Given the description of an element on the screen output the (x, y) to click on. 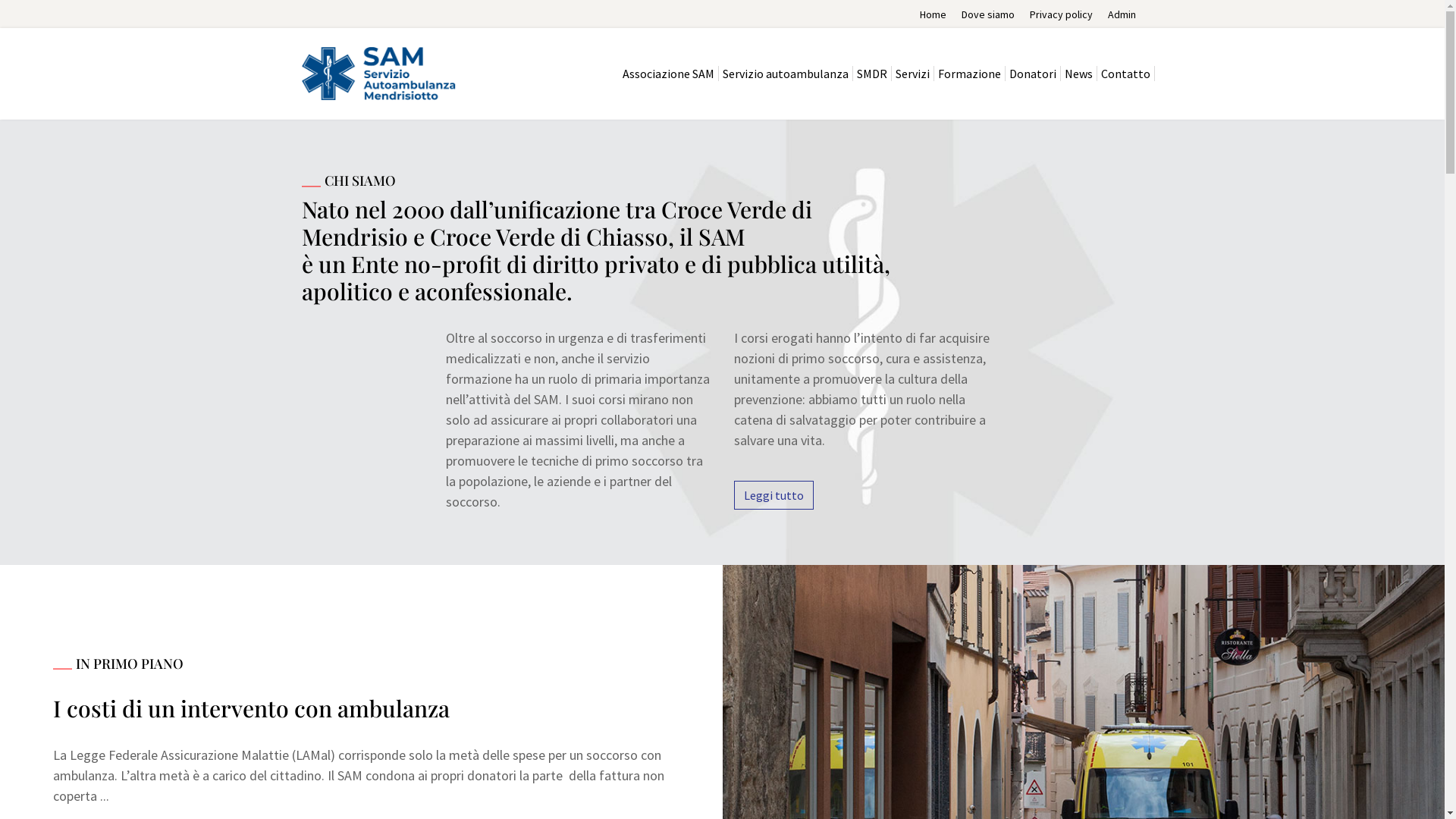
Formazione Element type: text (969, 73)
Privacy policy Element type: text (1060, 14)
Servizio autoambulanza Element type: text (785, 73)
Dove siamo Element type: text (987, 14)
Servizi Element type: text (912, 73)
News Element type: text (1078, 73)
Admin Element type: text (1121, 14)
Home Element type: text (932, 14)
SMDR Element type: text (871, 73)
Leggi tutto Element type: text (773, 494)
Associazione SAM Element type: text (668, 73)
Donatori Element type: text (1032, 73)
Contatto Element type: text (1125, 73)
